Given the description of an element on the screen output the (x, y) to click on. 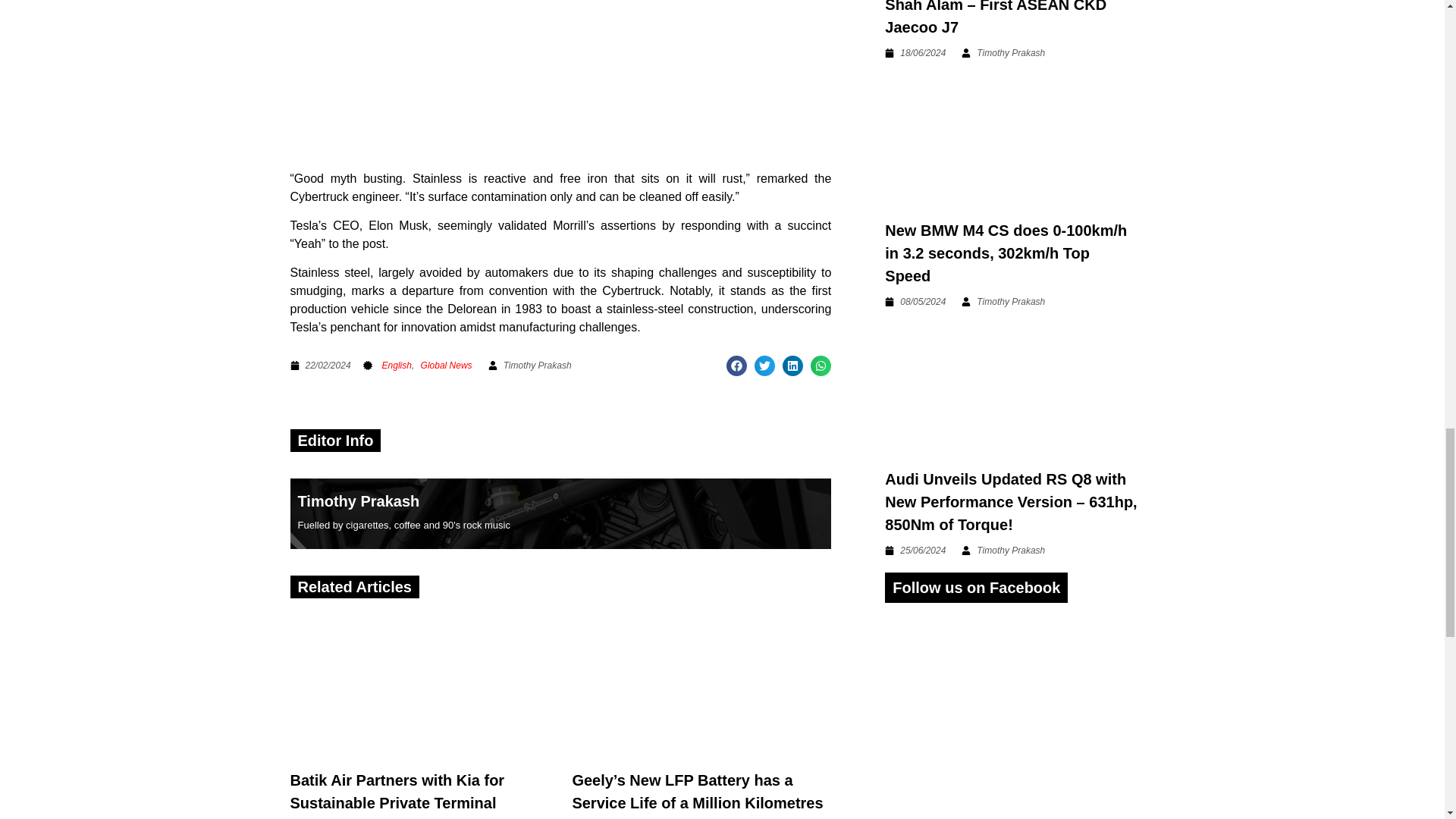
Timothy Prakash (358, 501)
Global News (445, 365)
Timothy Prakash (529, 365)
Editor Info (334, 440)
English (396, 365)
